Given the description of an element on the screen output the (x, y) to click on. 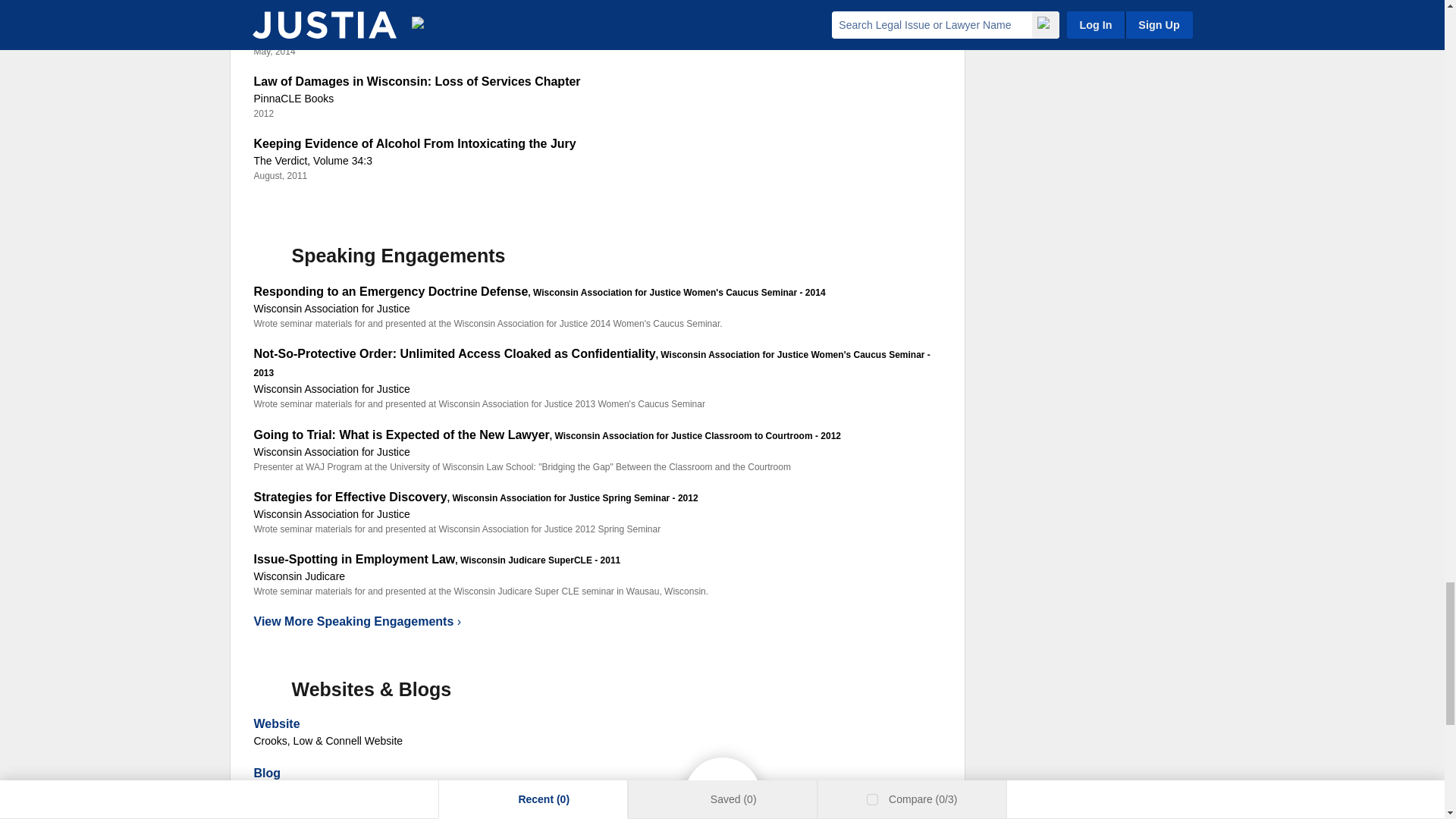
Website (276, 723)
